Given the description of an element on the screen output the (x, y) to click on. 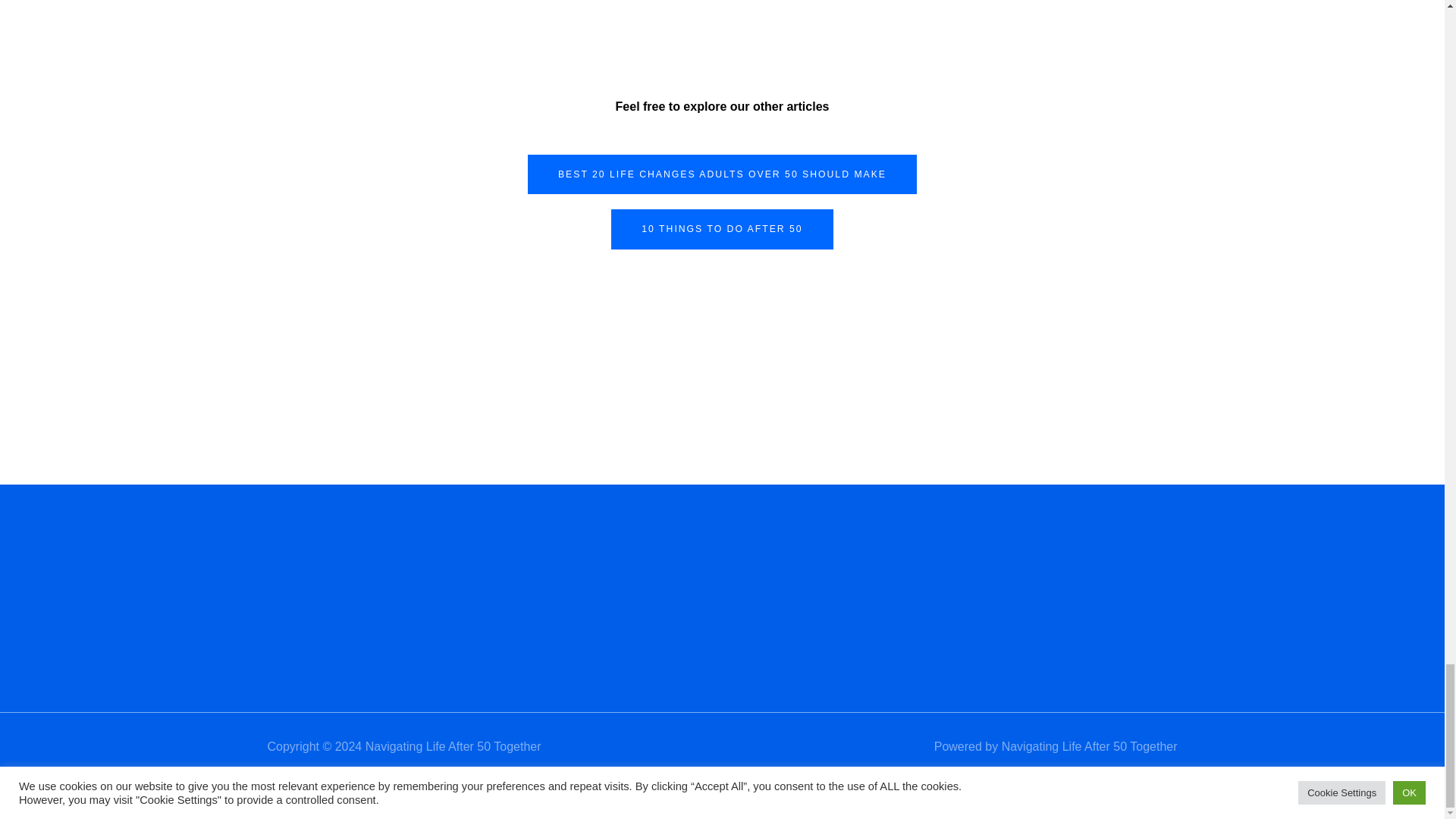
BEST 20 LIFE CHANGES ADULTS OVER 50 SHOULD MAKE (722, 174)
10 THINGS TO DO AFTER 50 (721, 228)
